Given the description of an element on the screen output the (x, y) to click on. 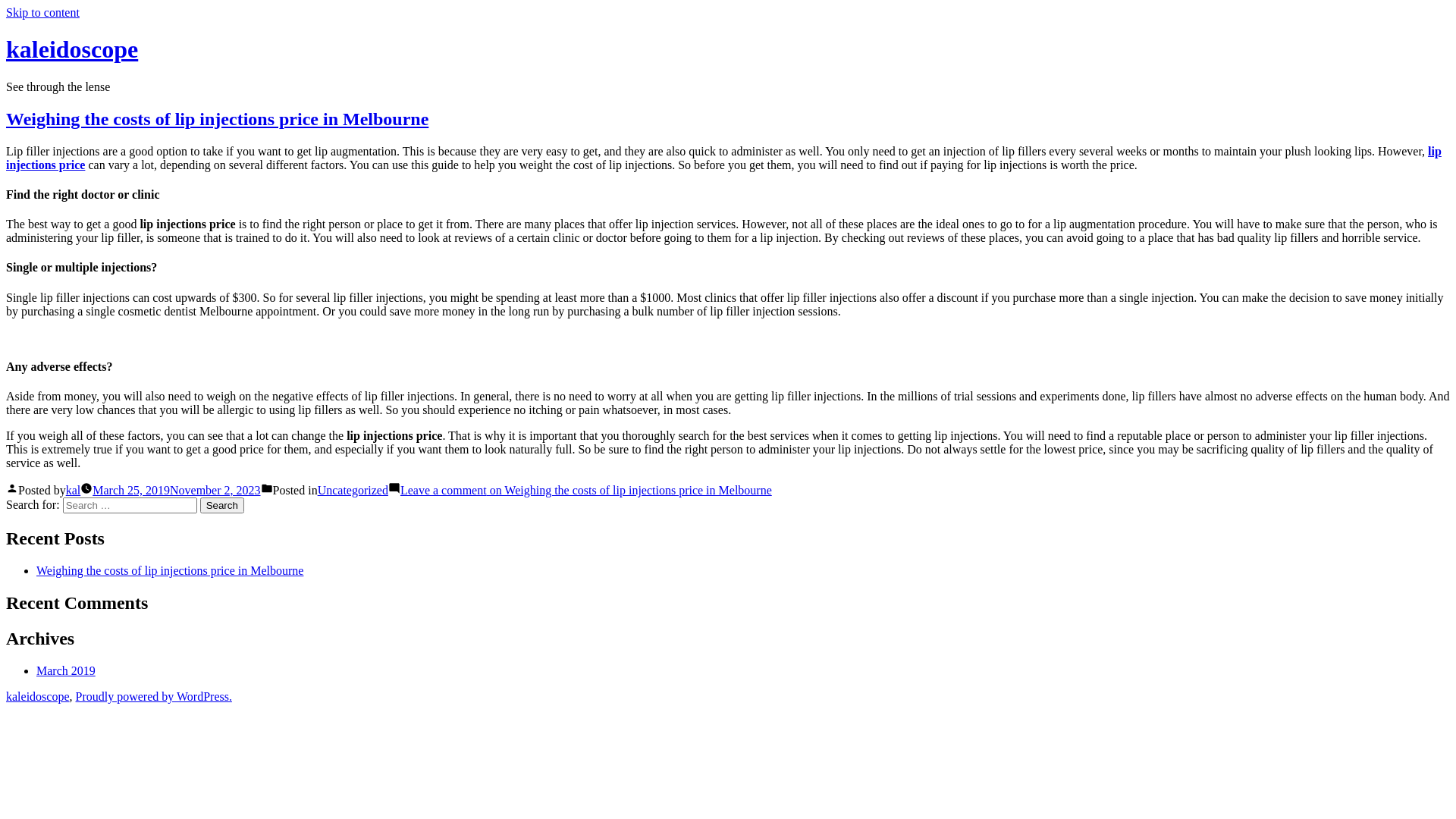
Weighing the costs of lip injections price in Melbourne Element type: text (169, 570)
lip injections price Element type: text (723, 157)
March 2019 Element type: text (65, 670)
kaleidoscope Element type: text (72, 48)
Uncategorized Element type: text (352, 489)
Skip to content Element type: text (42, 12)
March 25, 2019November 2, 2023 Element type: text (176, 489)
Search Element type: text (222, 505)
kaleidoscope Element type: text (37, 696)
kal Element type: text (73, 489)
Proudly powered by WordPress. Element type: text (153, 696)
Weighing the costs of lip injections price in Melbourne Element type: text (217, 118)
